Given the description of an element on the screen output the (x, y) to click on. 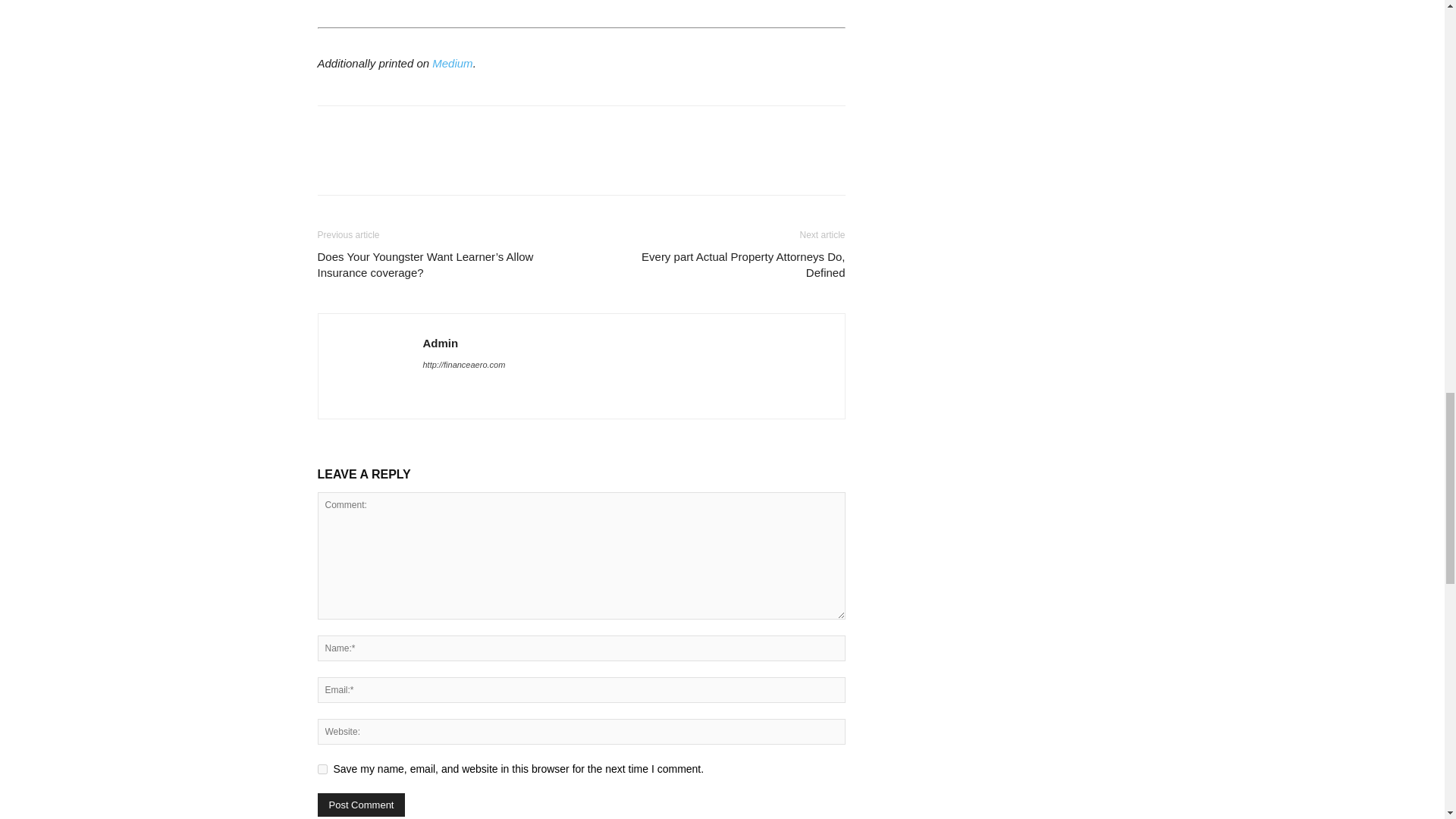
Post Comment (360, 804)
yes (321, 768)
